Given the description of an element on the screen output the (x, y) to click on. 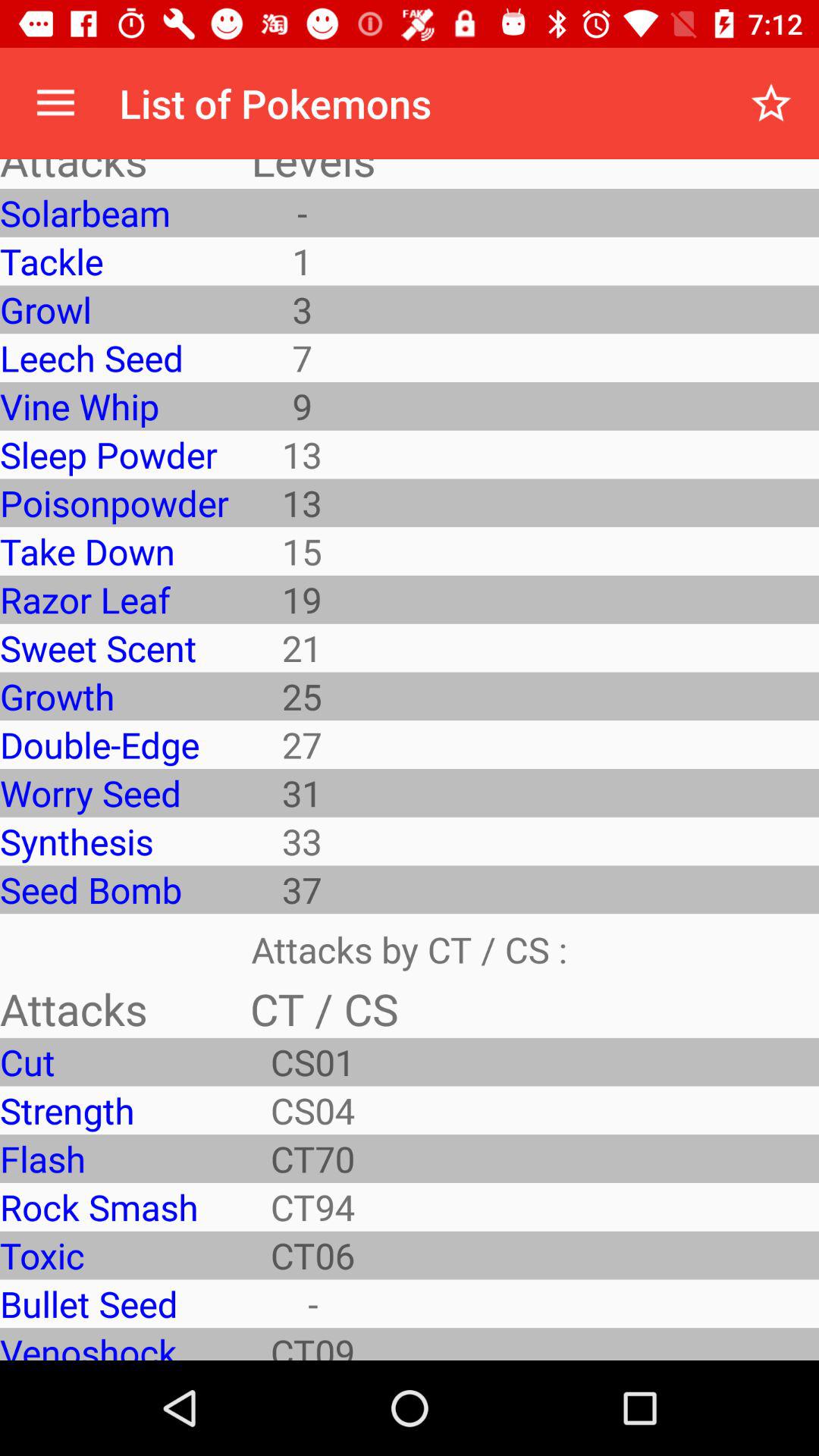
turn on app next to the list of pokemons app (55, 103)
